Given the description of an element on the screen output the (x, y) to click on. 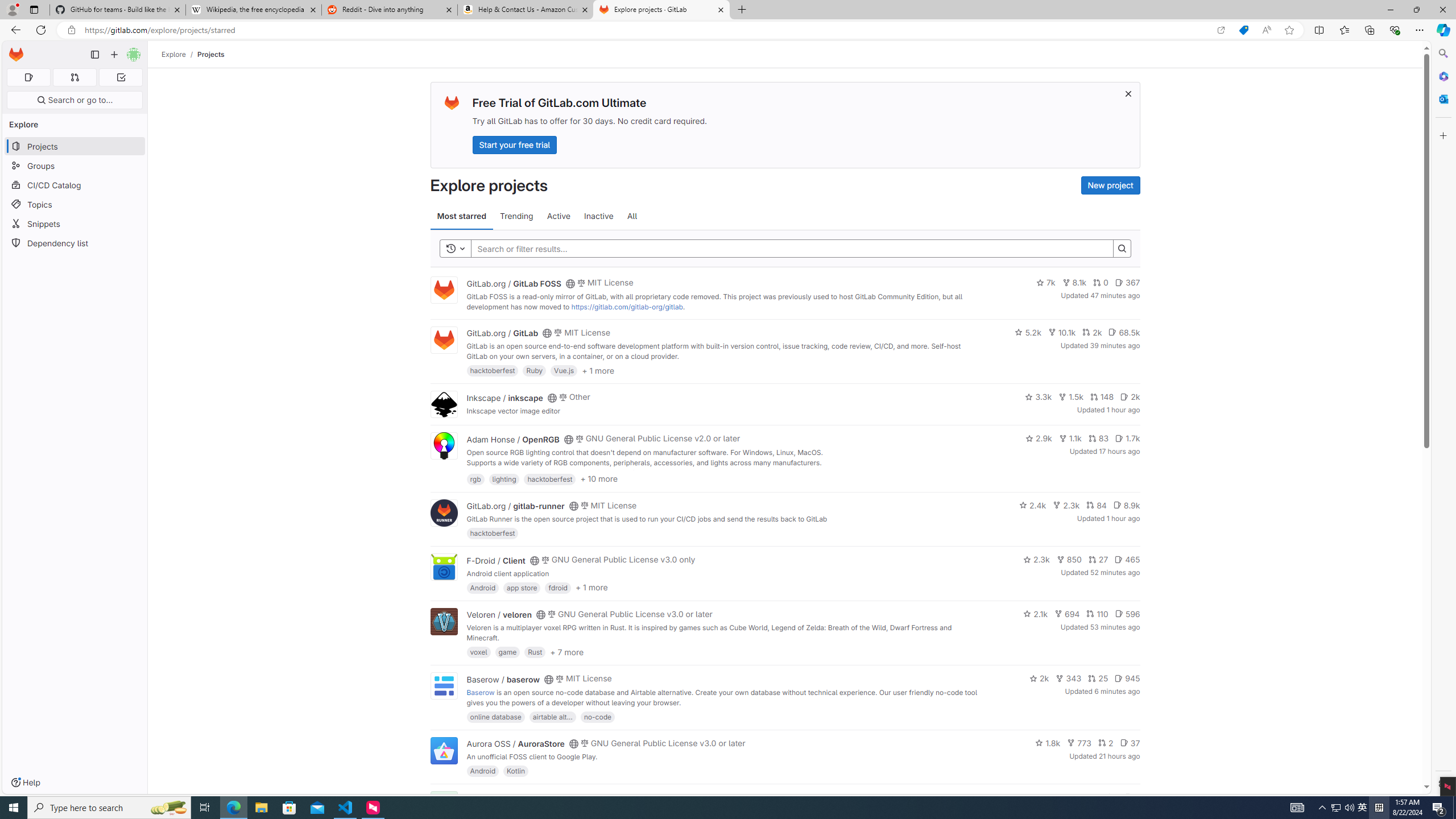
CI/CD Catalog (74, 185)
Wikipedia, the free encyclopedia (253, 9)
https://openrgb.org (563, 472)
online database (495, 715)
6 (1132, 797)
Kotlin (515, 770)
Ruby (533, 370)
lighting (504, 478)
1.8k (1048, 742)
Most starred (461, 216)
game (507, 651)
Class: s16 gl-icon gl-button-icon  (1127, 93)
3.3k (1038, 396)
Dismiss trial promotion (1128, 93)
343 (1068, 678)
